Given the description of an element on the screen output the (x, y) to click on. 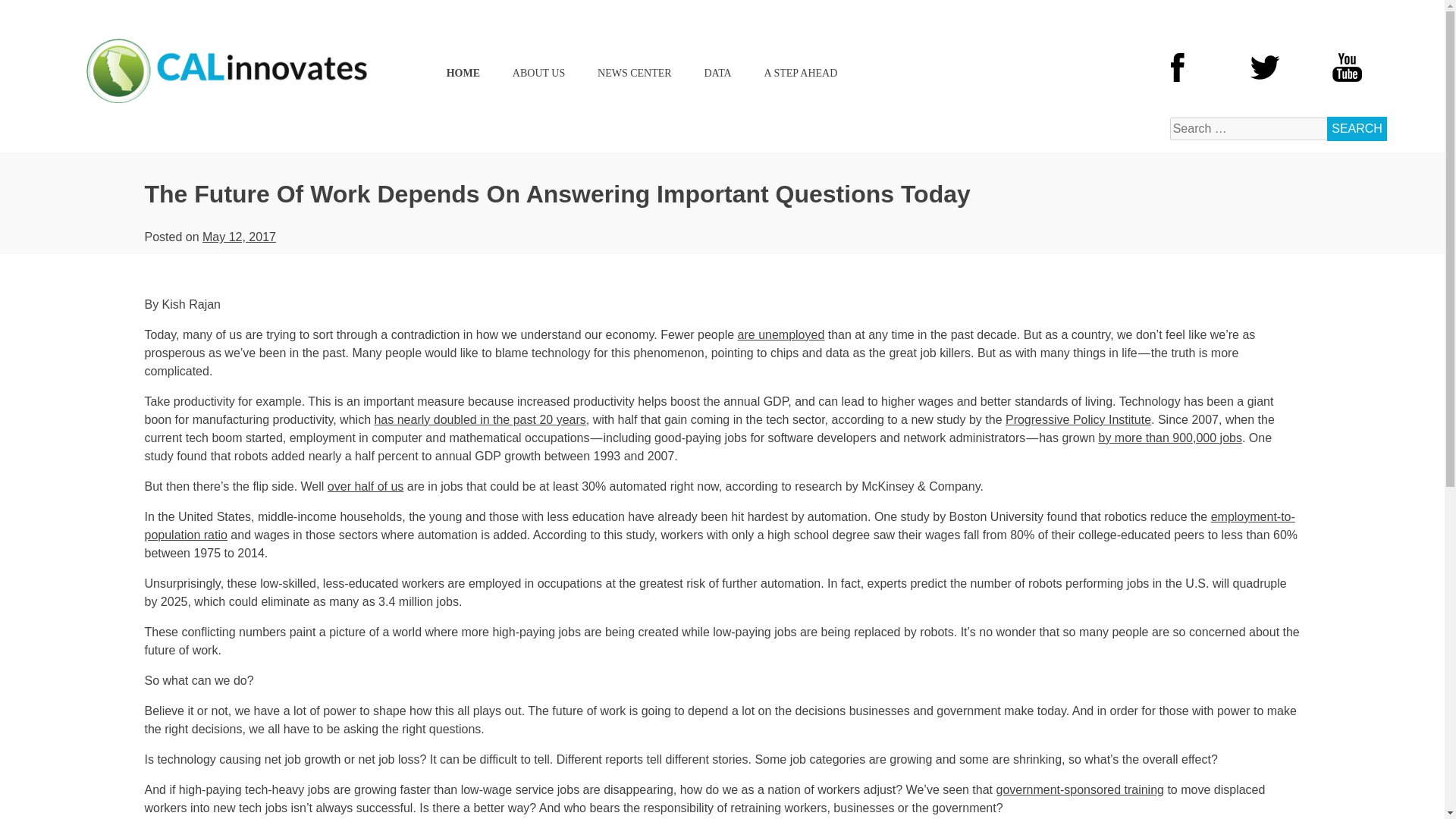
has nearly doubled in the past 20 years (479, 419)
A STEP AHEAD (801, 73)
Search (1356, 128)
NEWS CENTER (633, 73)
government-sponsored training (1079, 789)
employment-to-population ratio (719, 525)
by more than 900,000 jobs (1169, 437)
over half of us (365, 486)
DATA (716, 73)
Search (1356, 128)
